Given the description of an element on the screen output the (x, y) to click on. 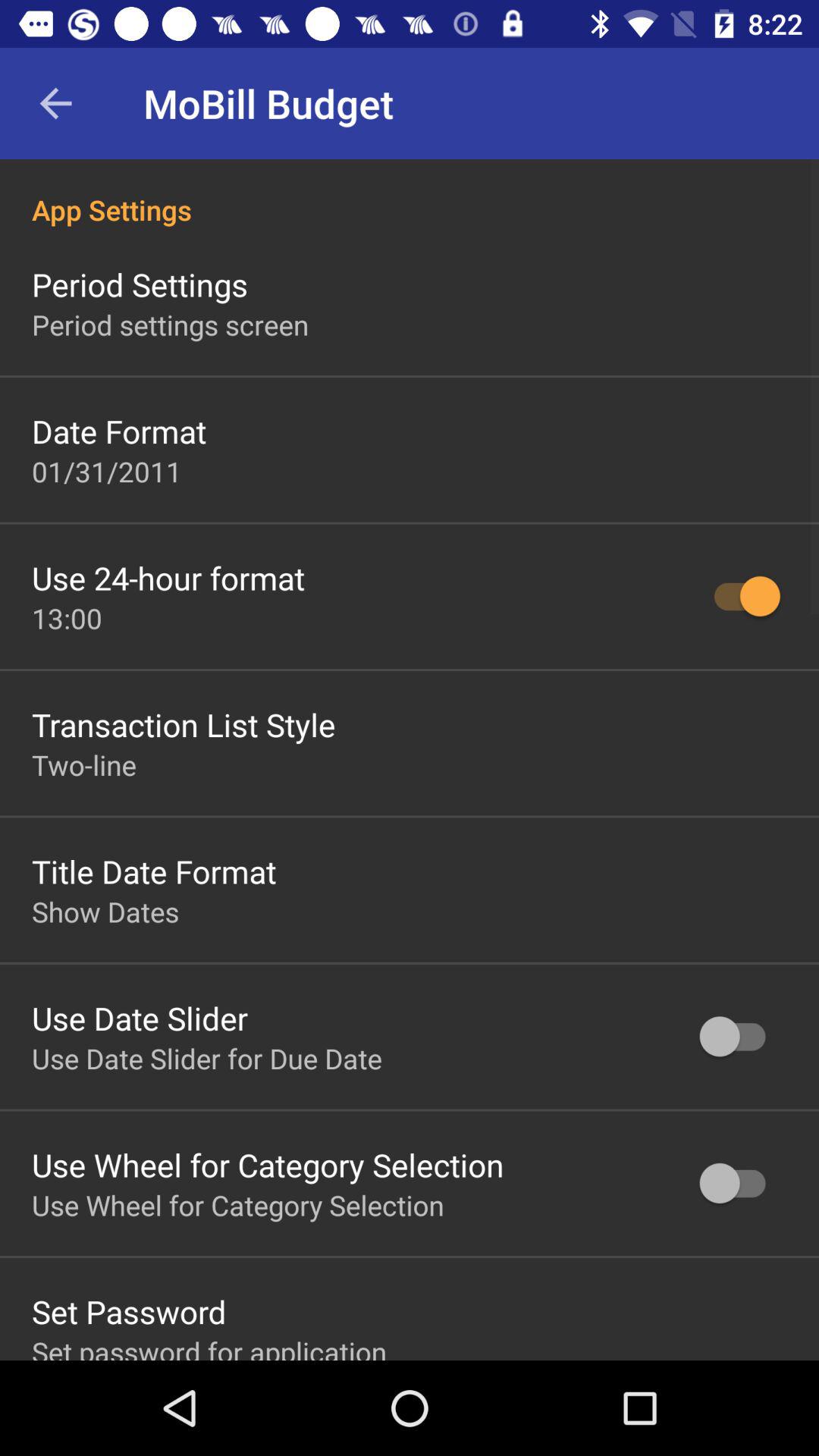
click the icon below 01/31/2011 icon (167, 577)
